Given the description of an element on the screen output the (x, y) to click on. 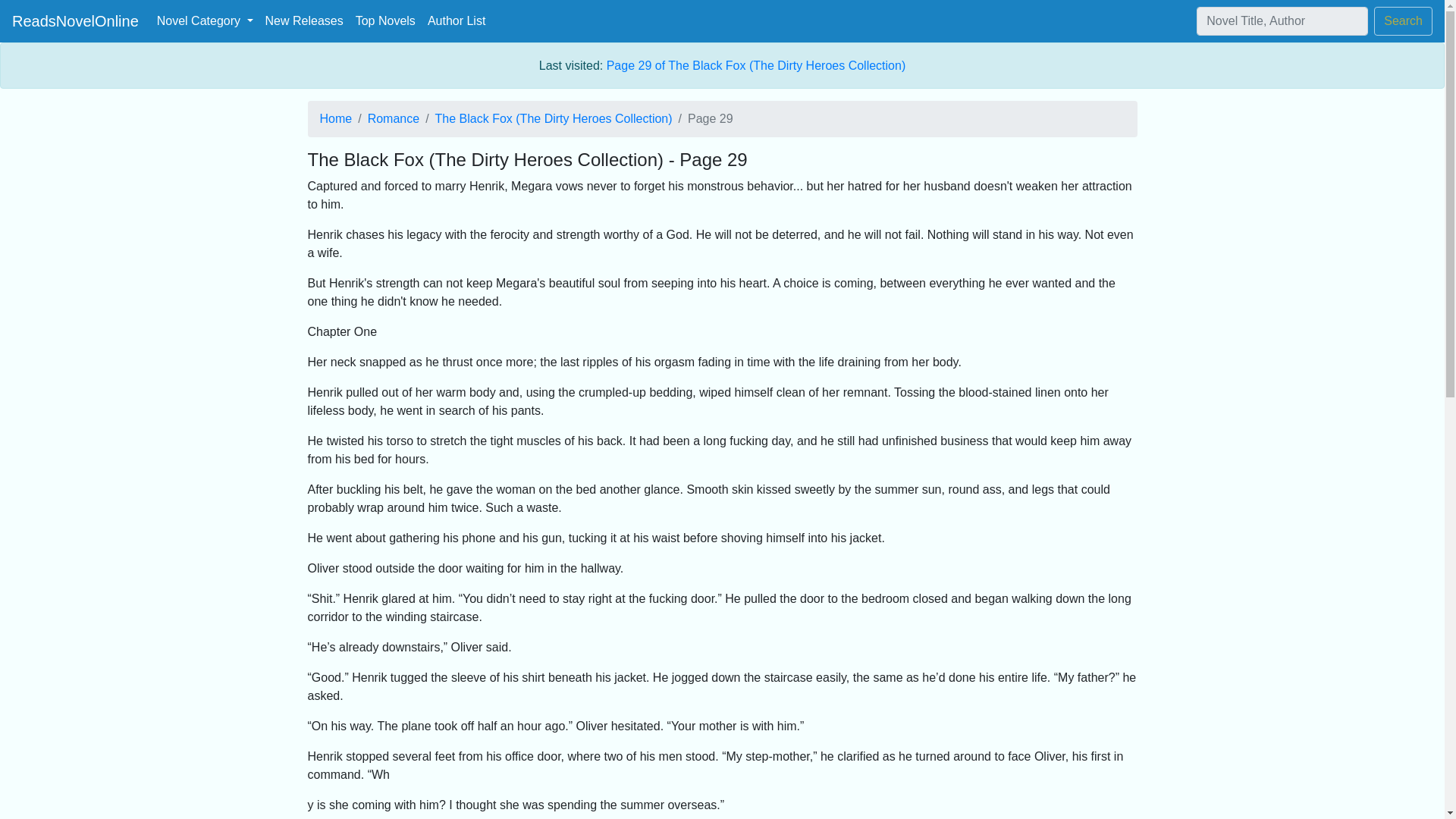
Author List (457, 20)
Free Novel Series List (304, 20)
Top Novels (385, 20)
New Releases (304, 20)
Free Novel Series List (385, 20)
Authors List (457, 20)
Home (336, 118)
Search (1403, 21)
Category (205, 20)
ReadsNovelOnline (74, 20)
